Given the description of an element on the screen output the (x, y) to click on. 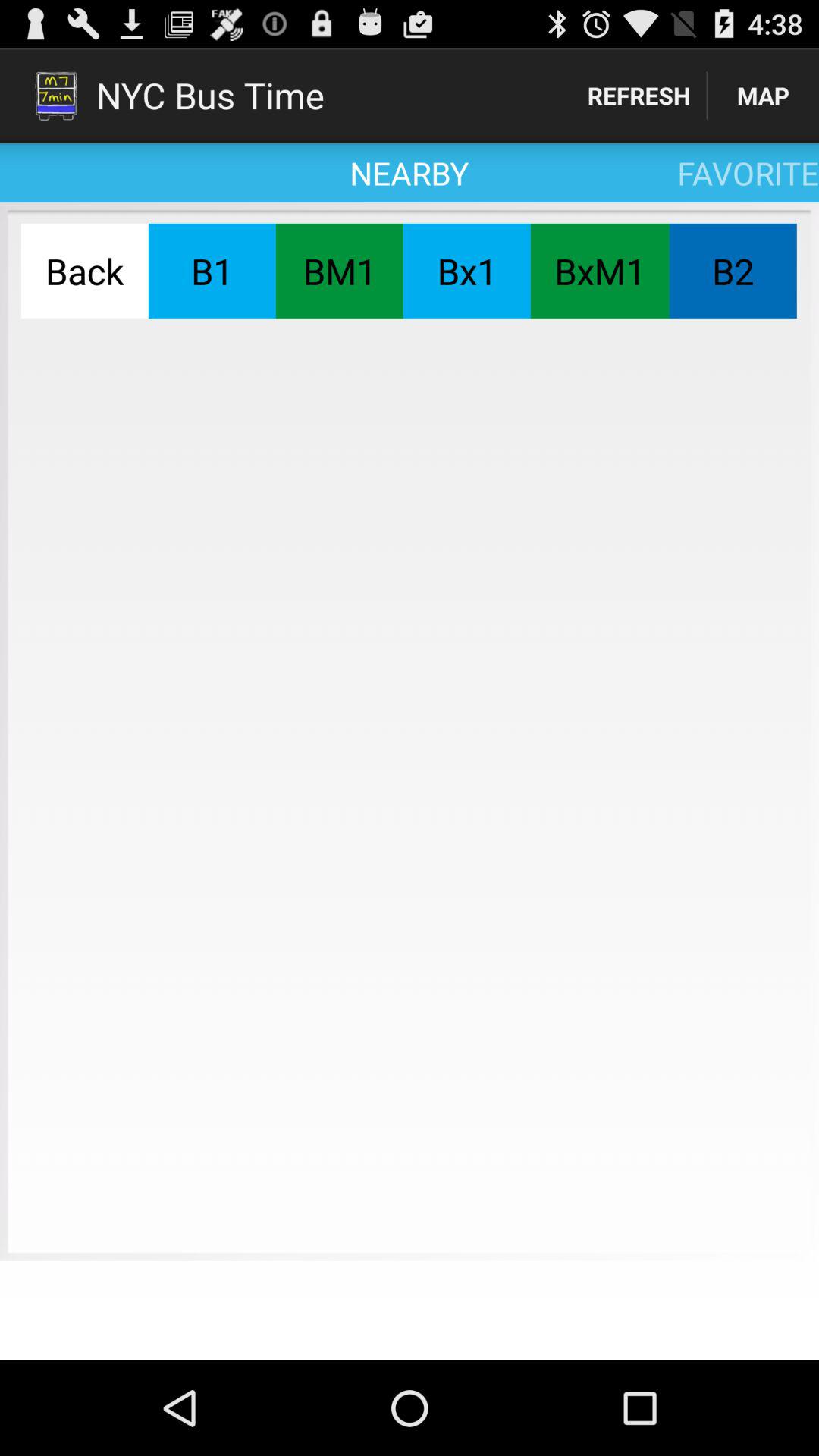
tap bx1 (466, 271)
